Given the description of an element on the screen output the (x, y) to click on. 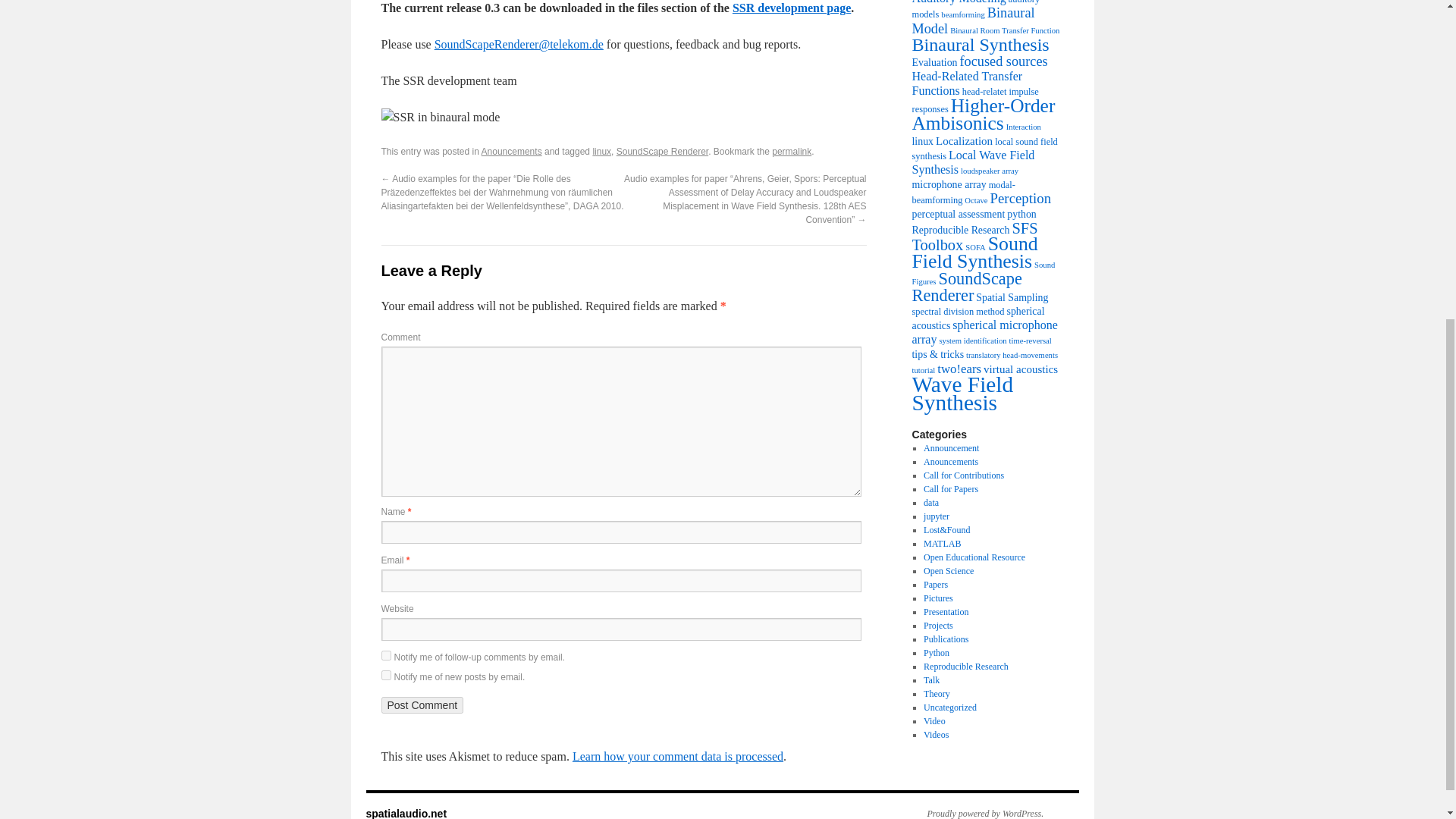
Learn how your comment data is processed (677, 756)
Binaural Model (972, 20)
linux (601, 151)
Binaural Room Transfer Function (1004, 30)
Anouncements (511, 151)
Permalink to Open Source Release of the SoundScape Renderer (790, 151)
Binaural Synthesis (979, 44)
auditory models (975, 9)
SoundScape Renderer (661, 151)
Auditory Modeling (958, 2)
permalink (790, 151)
subscribe (385, 675)
Post Comment (421, 704)
beamforming (962, 14)
SSR development page (791, 7)
